Given the description of an element on the screen output the (x, y) to click on. 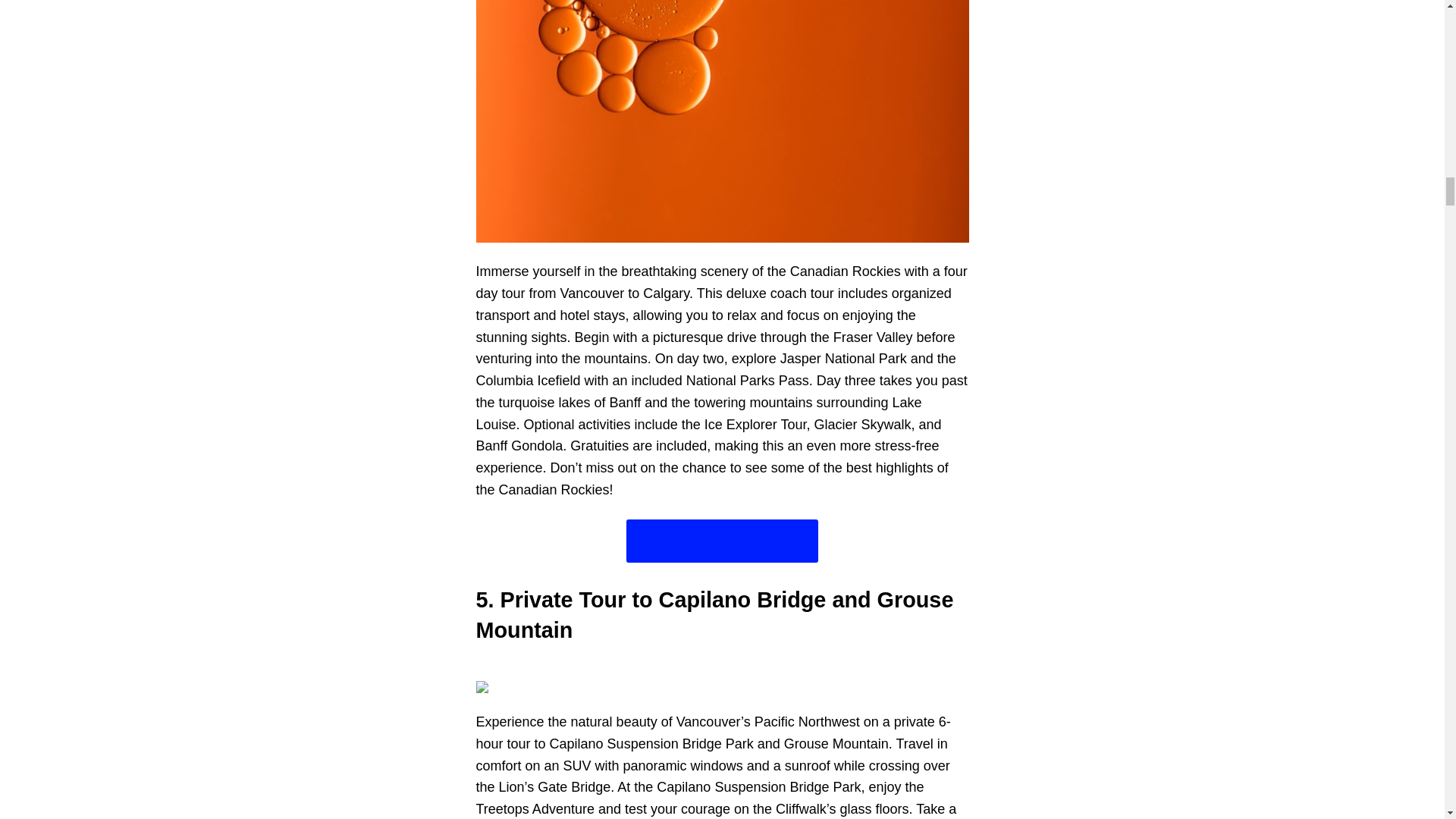
Check out Western Trails (722, 540)
